Given the description of an element on the screen output the (x, y) to click on. 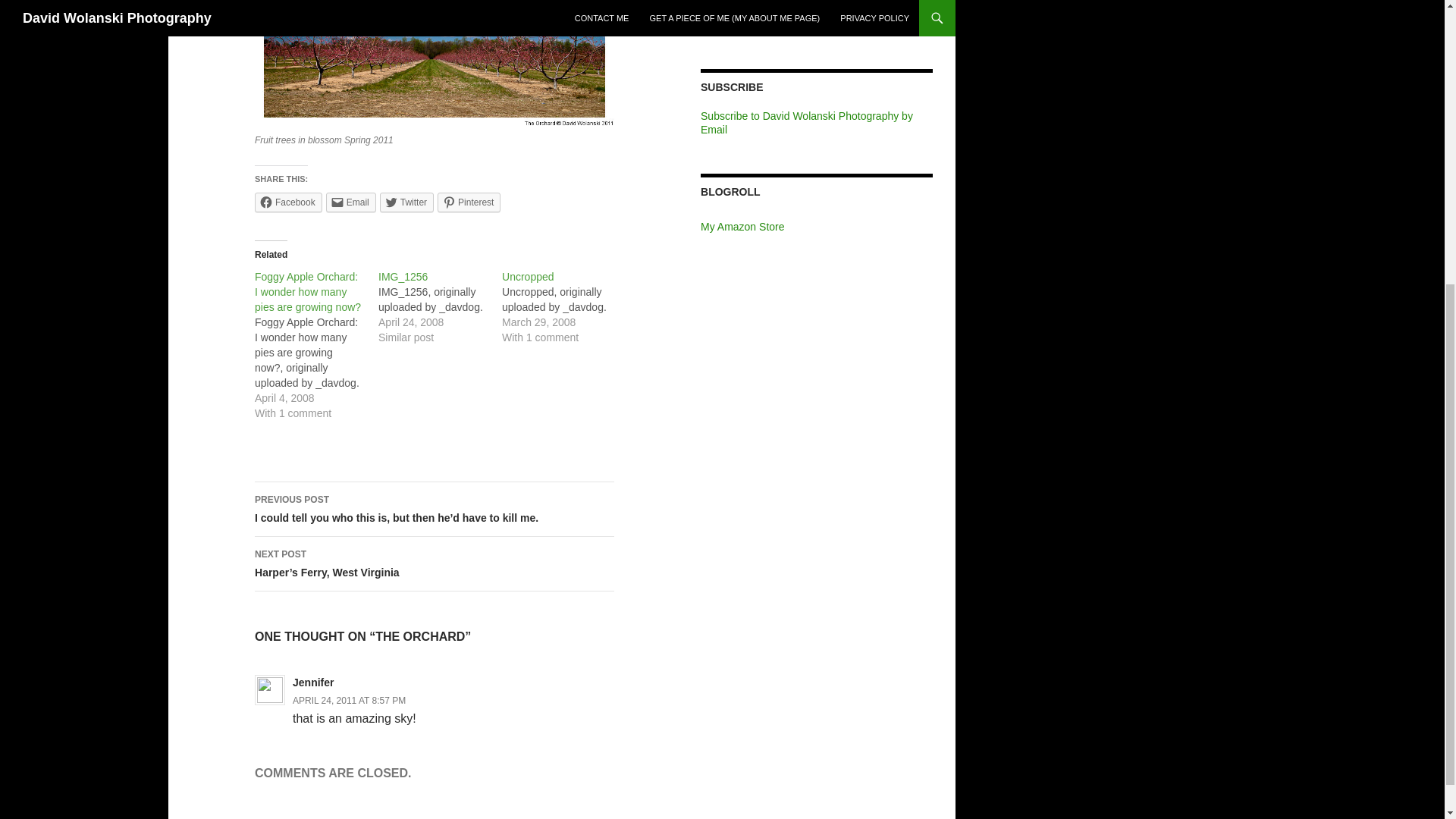
Uncropped (528, 276)
Click to share on Twitter (406, 202)
Uncropped (528, 276)
Click to share on Facebook (287, 202)
Gear and books I have or want (742, 226)
Facebook (287, 202)
Subscribe to David Wolanski Photography by Email (806, 122)
Fifer Orchard, Camden, DE (434, 63)
Foggy Apple Orchard: I wonder how many pies are growing now? (307, 291)
My Amazon Store (742, 226)
Email (350, 202)
Pinterest (469, 202)
Click to share on Pinterest (469, 202)
Foggy Apple Orchard: I wonder how many pies are growing now? (307, 291)
Click to email a link to a friend (350, 202)
